Given the description of an element on the screen output the (x, y) to click on. 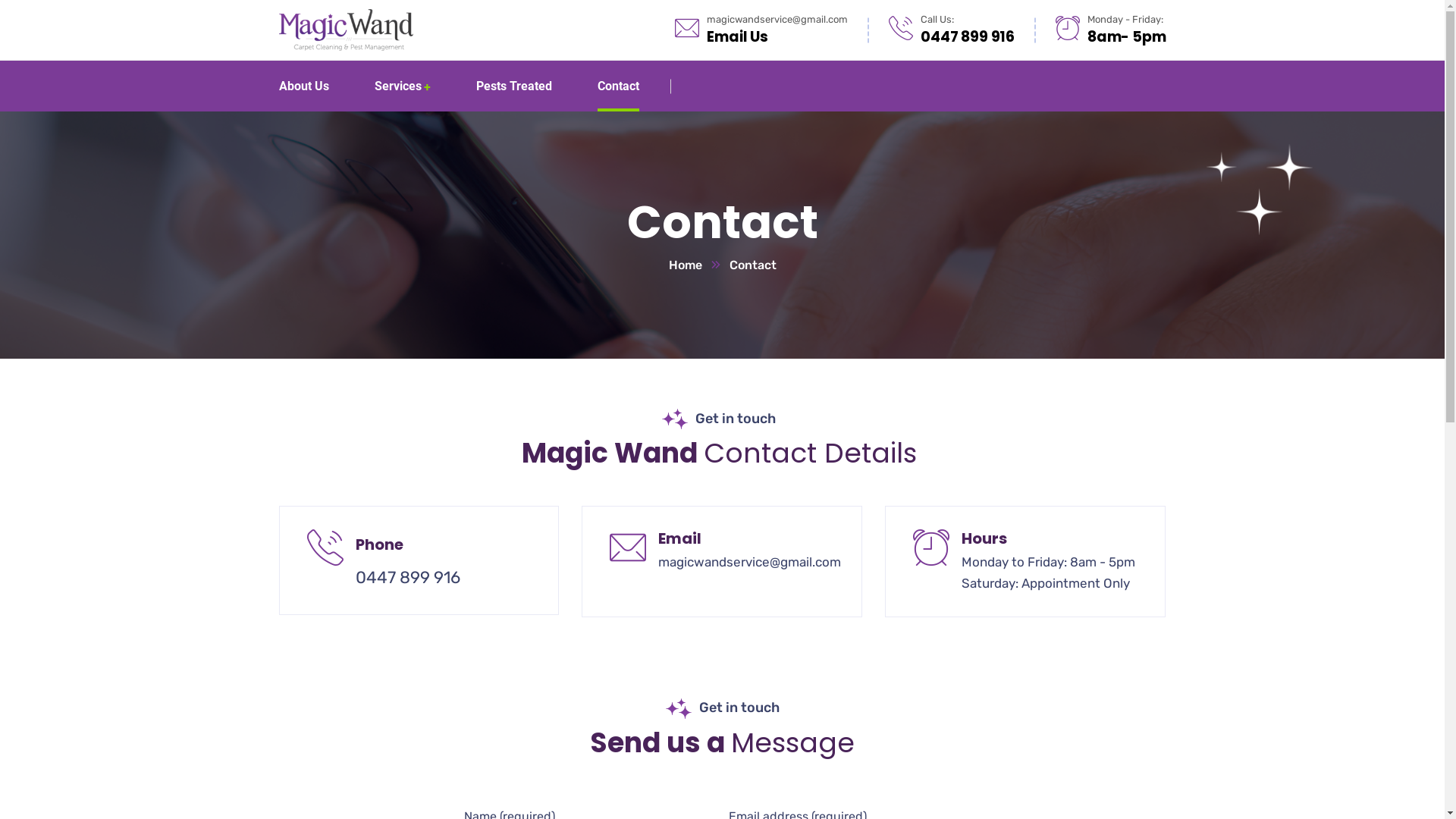
Services Element type: text (402, 85)
Contact Element type: text (618, 85)
Home Element type: text (698, 264)
Pests Treated Element type: text (514, 85)
Magic Wand Element type: hover (346, 28)
About Us Element type: text (304, 85)
